Given the description of an element on the screen output the (x, y) to click on. 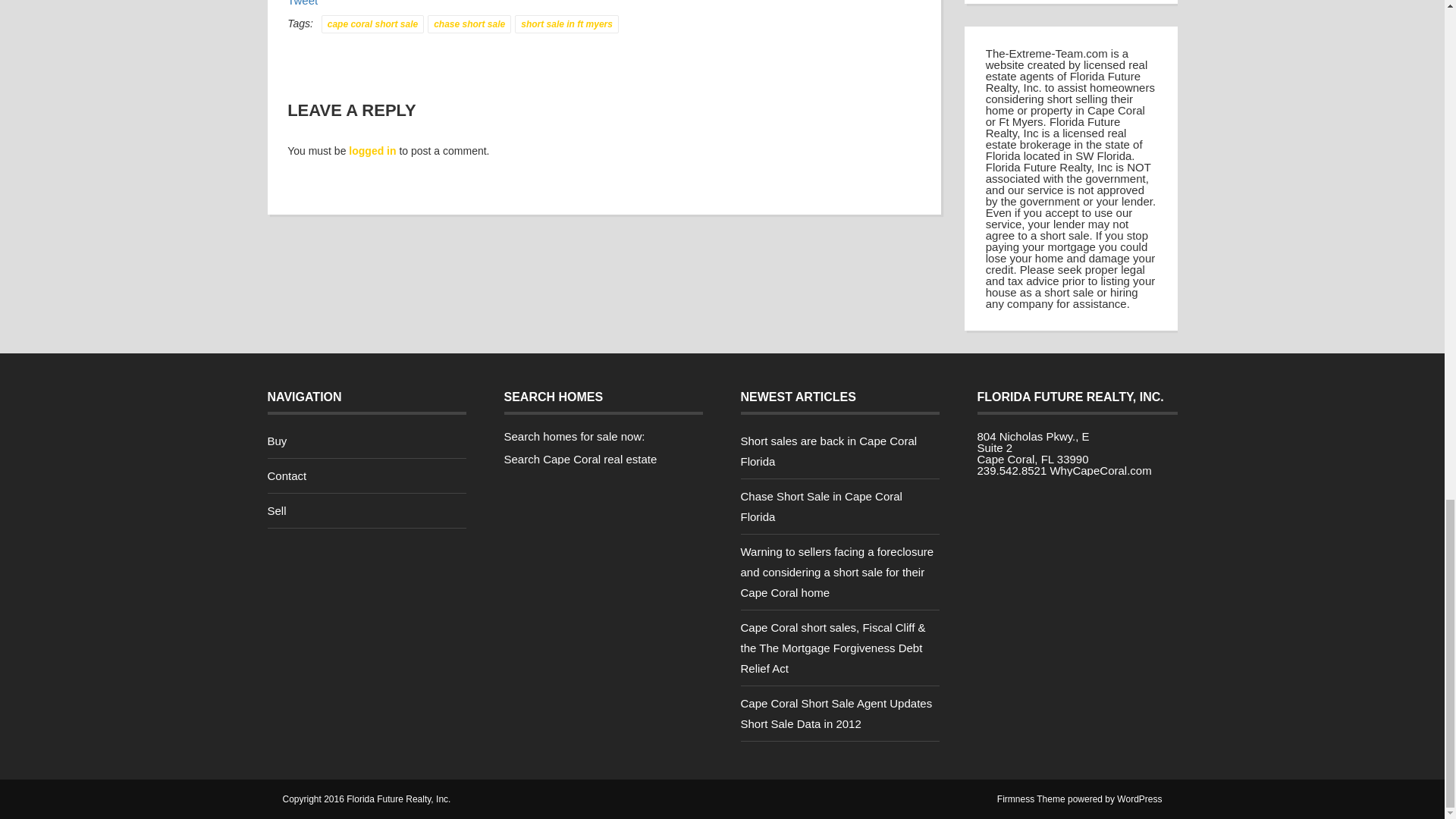
Firmness Theme (1031, 798)
logged in (372, 150)
cape coral short sale (372, 24)
WordPress (1138, 798)
short sale in ft myers (566, 24)
chase short sale (469, 24)
Tweet (301, 3)
Contact (285, 475)
Sell (275, 510)
Buy (276, 440)
